Given the description of an element on the screen output the (x, y) to click on. 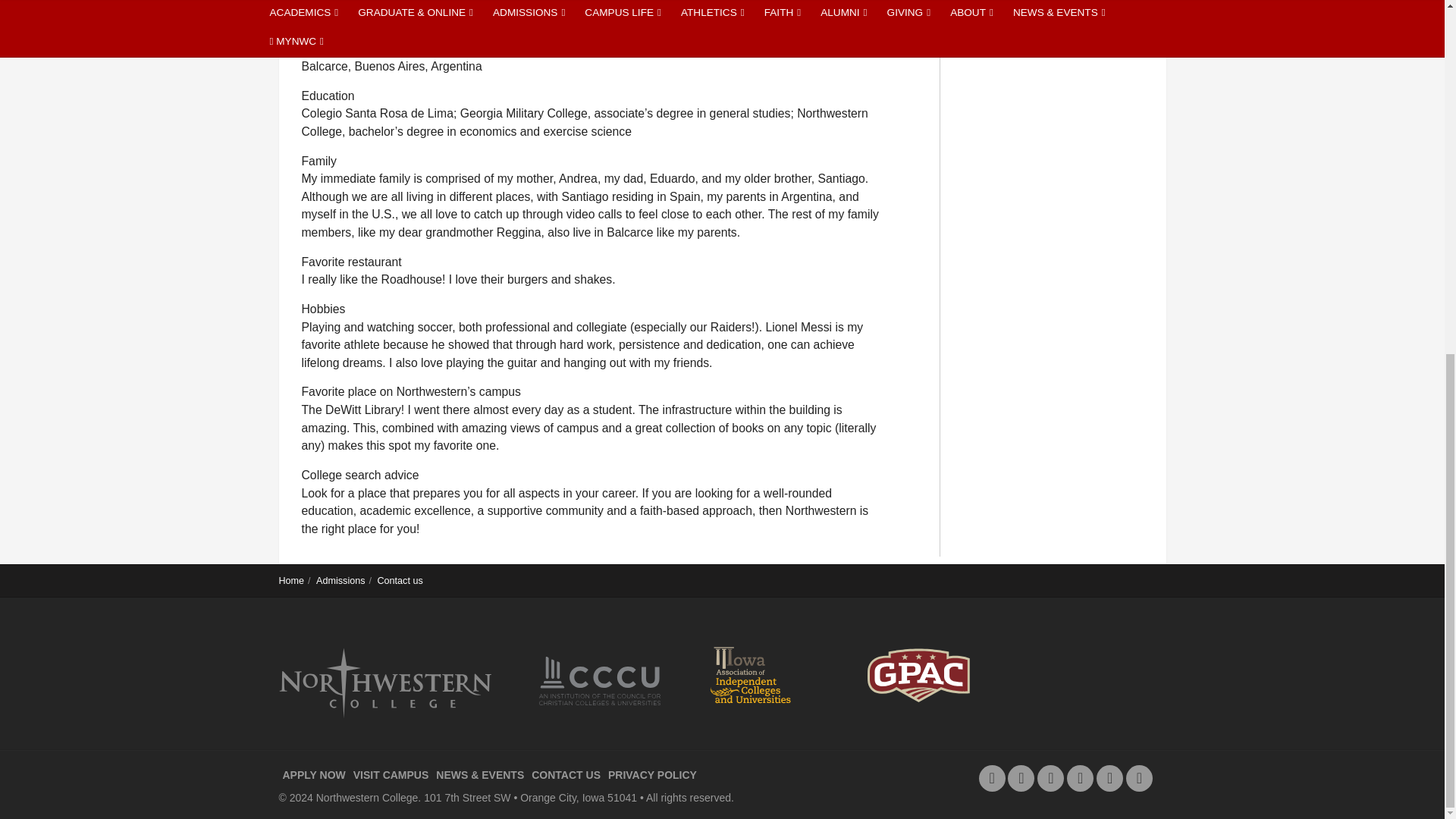
Admissions (340, 580)
Home (291, 580)
